Given the description of an element on the screen output the (x, y) to click on. 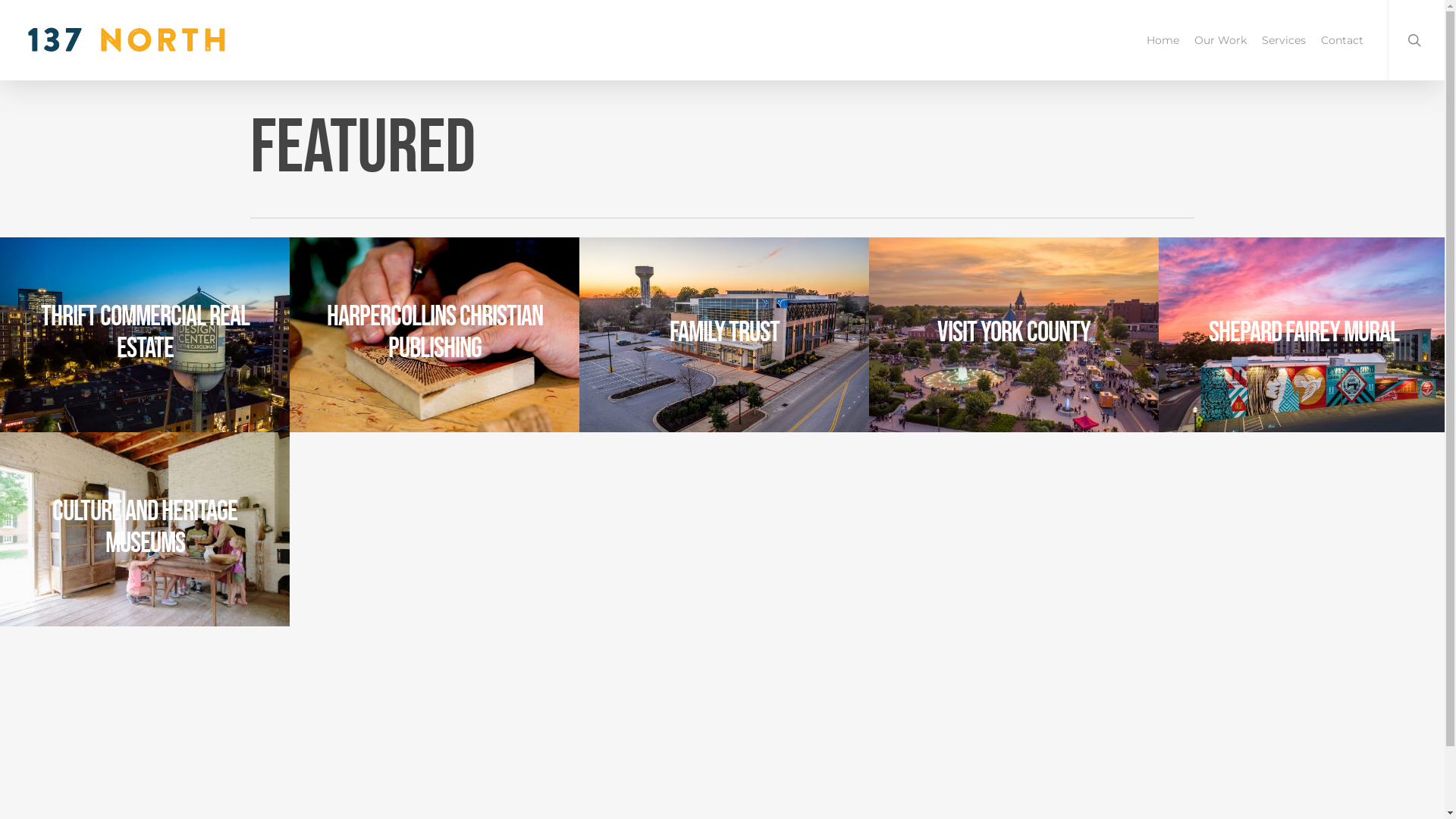
Contact Element type: text (1342, 39)
instagram Element type: text (1187, 793)
facebook Element type: text (1131, 793)
Services Element type: text (1283, 39)
vimeo Element type: text (1158, 793)
Our Work Element type: text (1220, 39)
Home Element type: text (1162, 39)
twitter Element type: text (1105, 793)
search Element type: text (1415, 40)
